Given the description of an element on the screen output the (x, y) to click on. 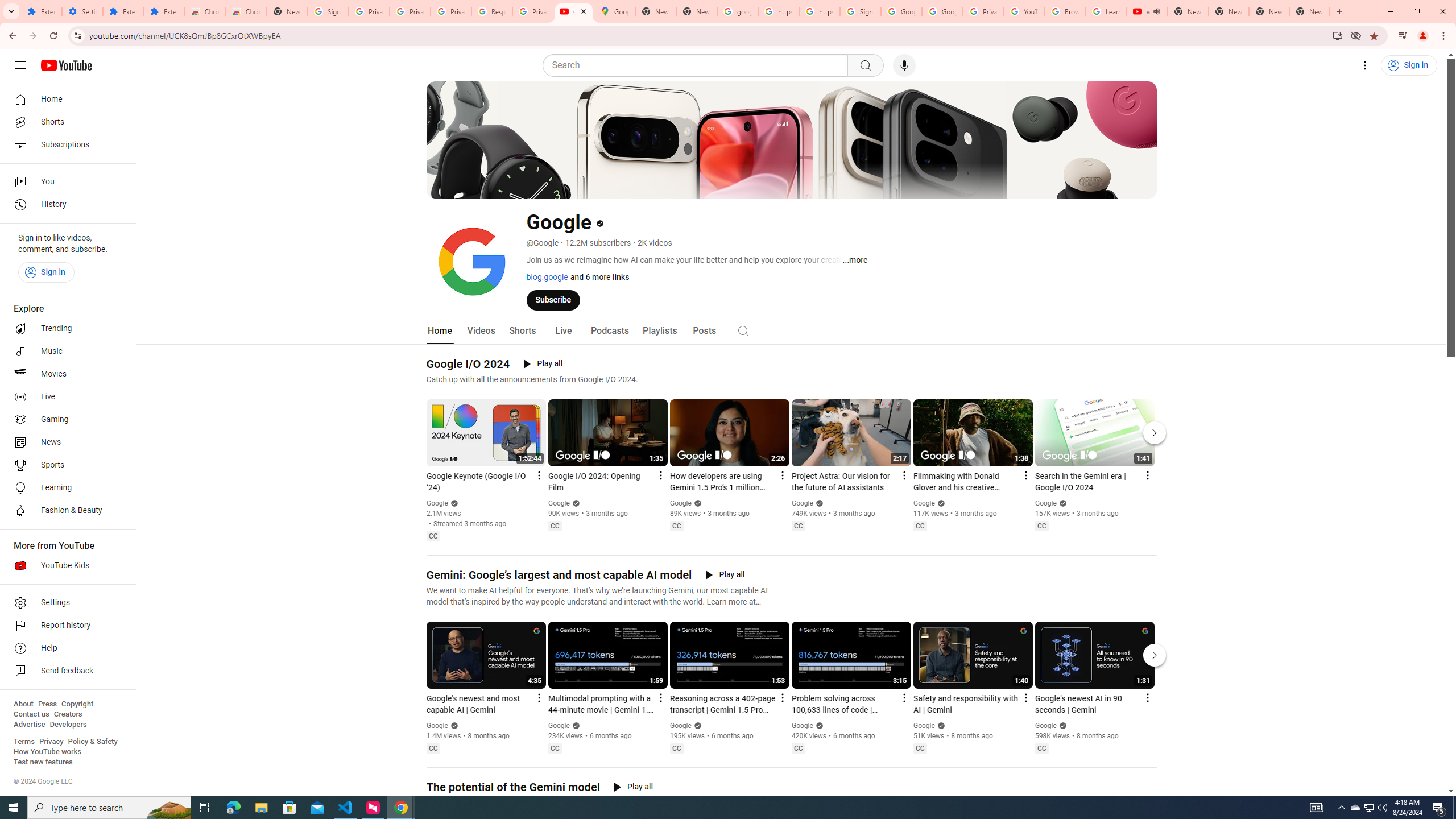
Copyright (77, 703)
Movies (64, 373)
Subscriptions (64, 144)
News (64, 441)
